Given the description of an element on the screen output the (x, y) to click on. 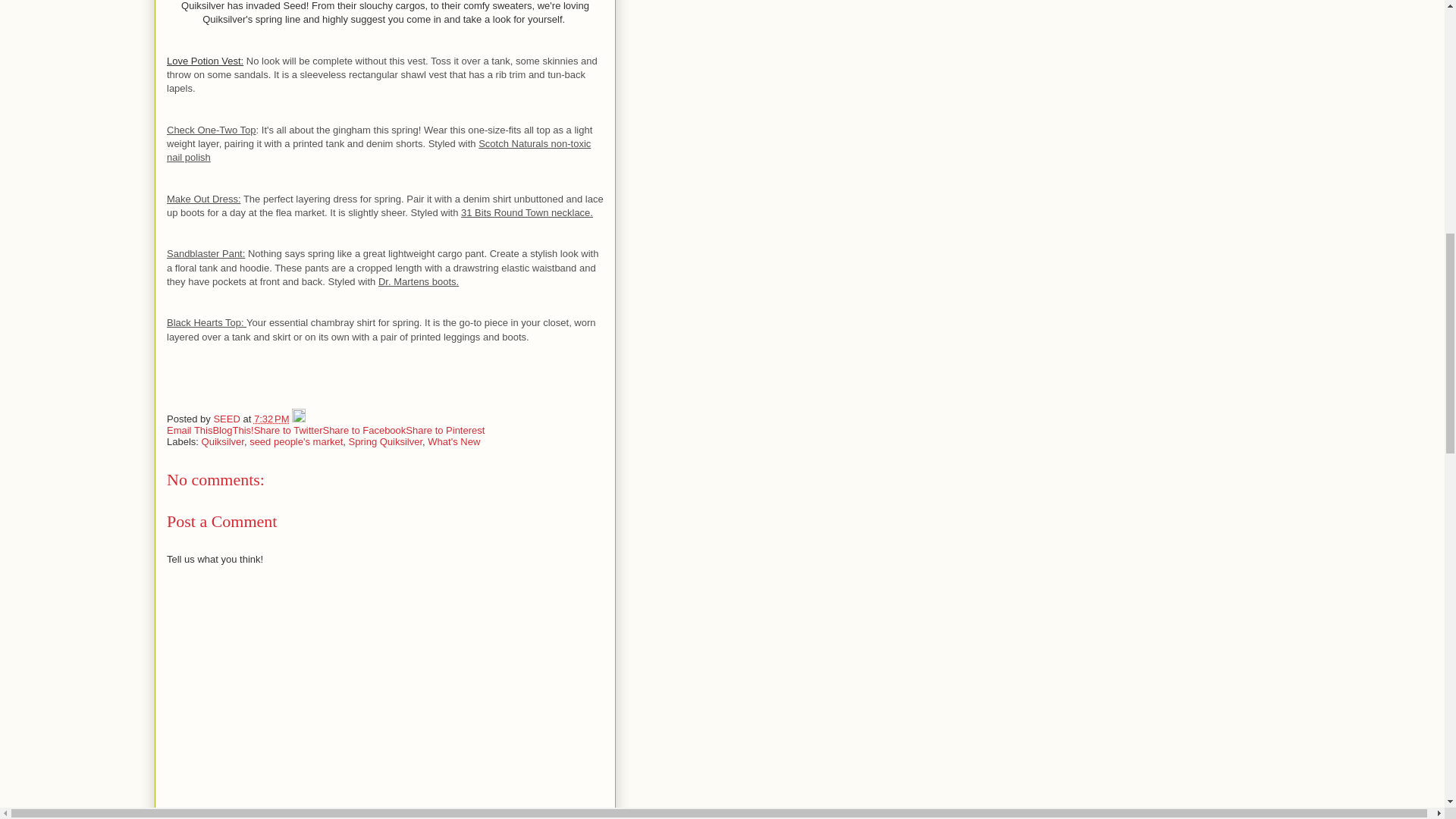
Quiksilver (223, 441)
Share to Twitter (288, 430)
Share to Pinterest (445, 430)
SEED (227, 419)
Share to Facebook (363, 430)
BlogThis! (232, 430)
author profile (227, 419)
What's New (454, 441)
permanent link (271, 419)
Edit Post (298, 419)
Email This (189, 430)
Share to Facebook (363, 430)
Share to Pinterest (445, 430)
Spring Quiksilver (386, 441)
